Given the description of an element on the screen output the (x, y) to click on. 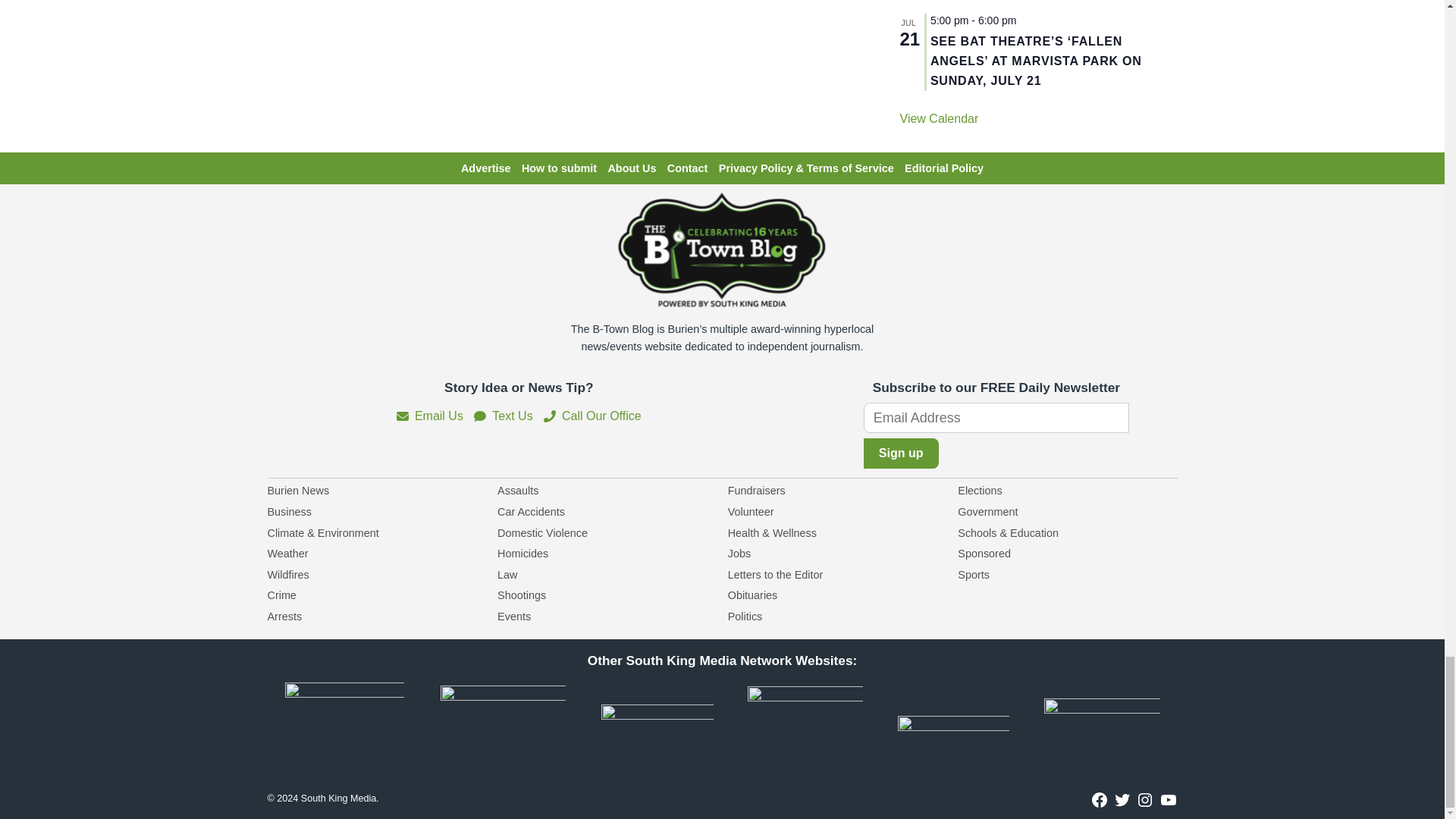
Sign up (901, 453)
